Given the description of an element on the screen output the (x, y) to click on. 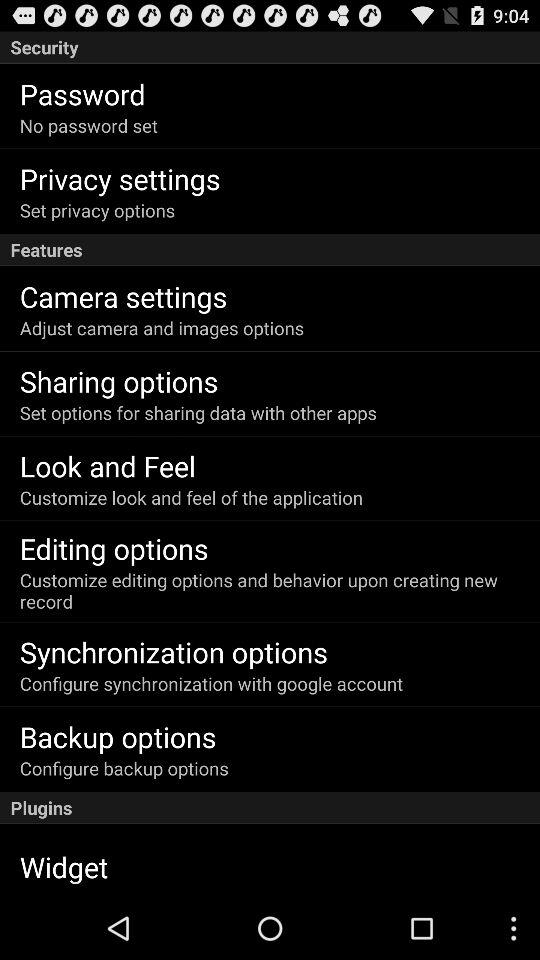
press the privacy settings (119, 178)
